Given the description of an element on the screen output the (x, y) to click on. 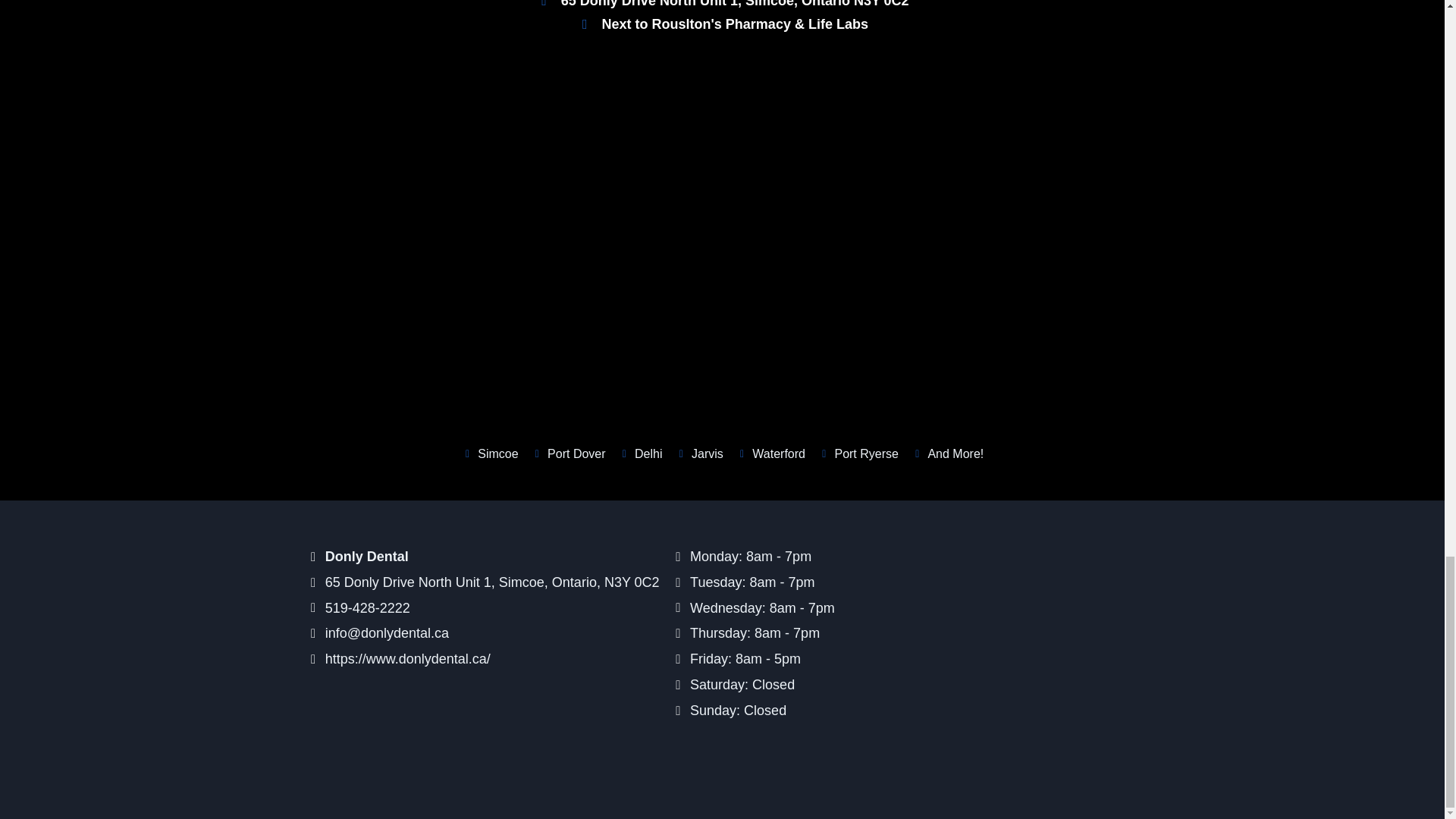
Delhi (639, 454)
519-428-2222 (485, 608)
Port Dover (568, 454)
